Given the description of an element on the screen output the (x, y) to click on. 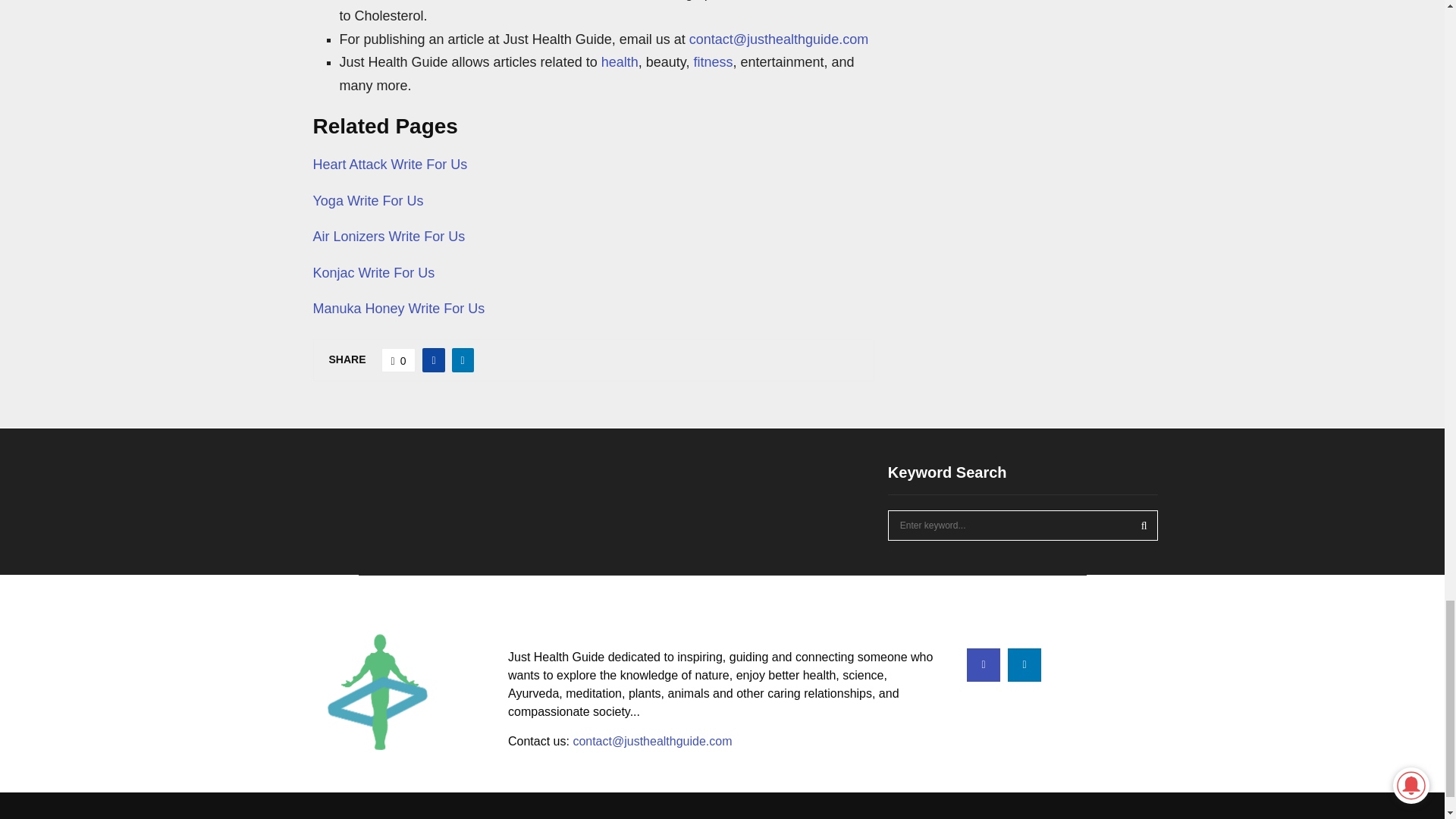
fitness (712, 61)
Facebook (983, 664)
Air Lonizers Write For Us (388, 236)
SEARCH (1143, 525)
Yoga Write For Us (368, 200)
0 (398, 360)
Konjac Write For Us (373, 272)
Heart Attack Write For Us (390, 164)
Manuka Honey Write For Us (398, 308)
Like (398, 360)
health (620, 61)
Linkedin (1024, 664)
